Given the description of an element on the screen output the (x, y) to click on. 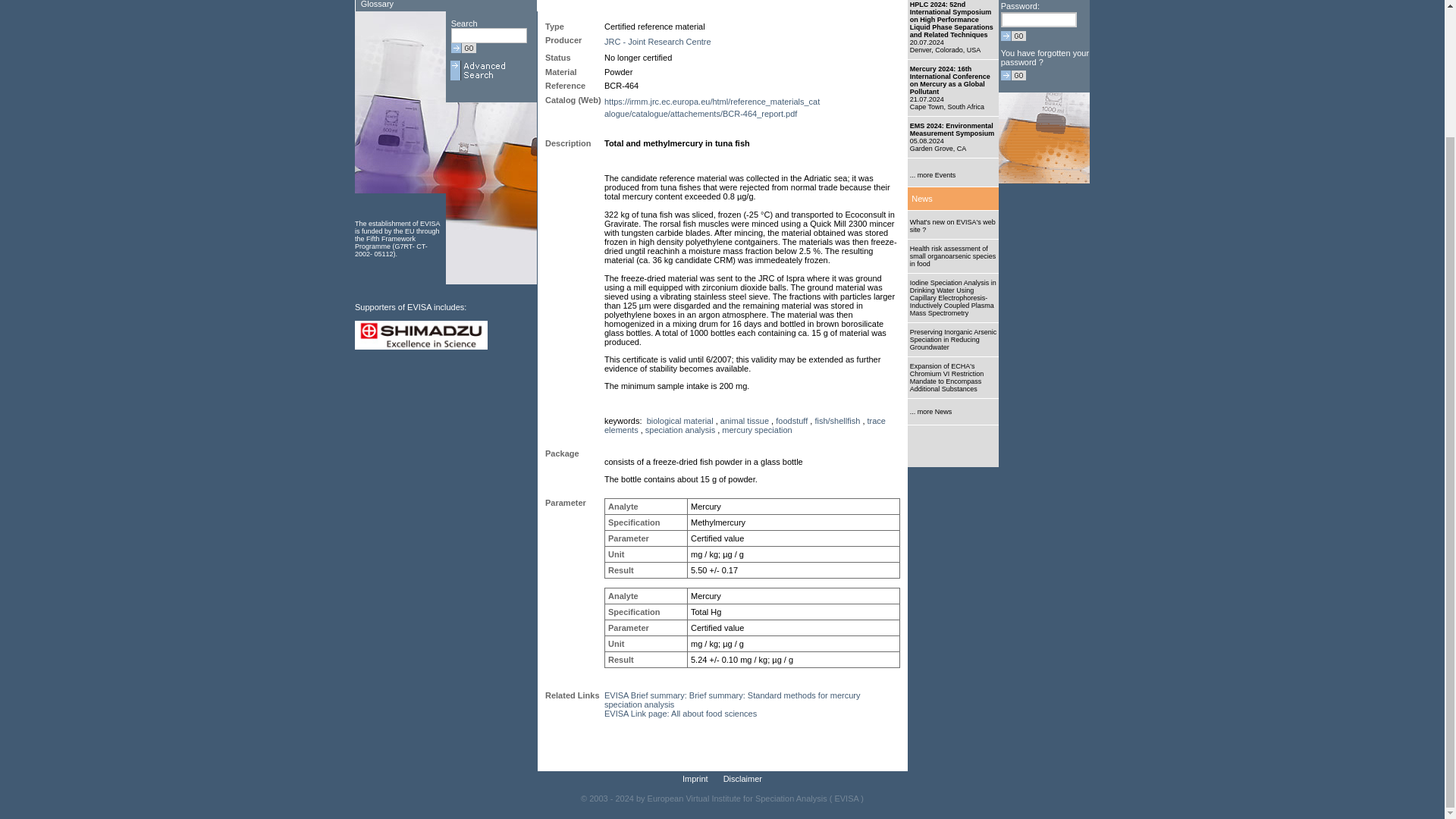
animal tissue (744, 420)
biological material (679, 420)
foodstuff (792, 420)
go (463, 48)
JRC - Joint Research Centre (657, 40)
